Given the description of an element on the screen output the (x, y) to click on. 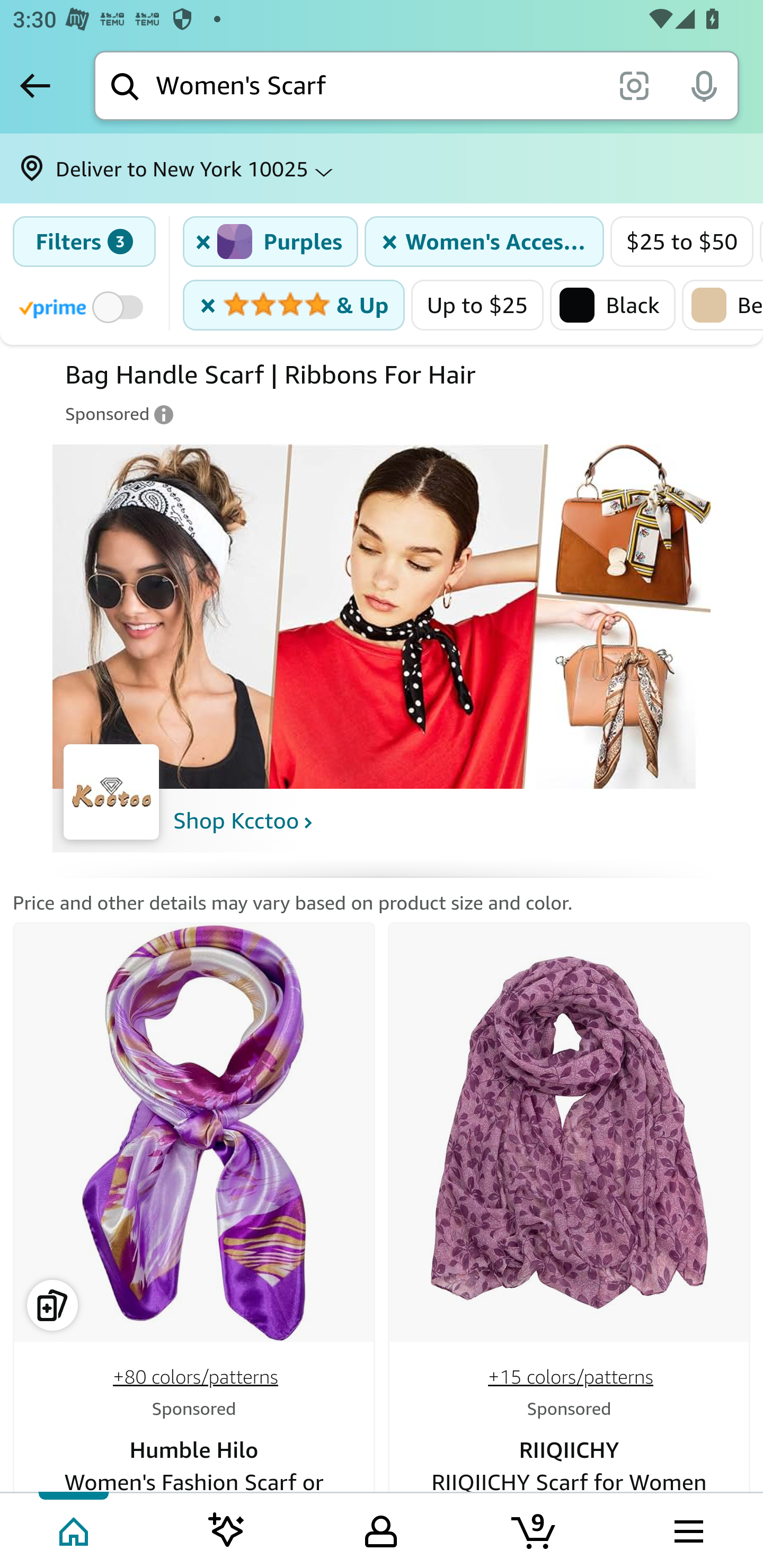
Back (35, 85)
scan it (633, 85)
Deliver to New York 10025 ⌵ (381, 168)
Filters 3 (83, 241)
× Purples Purples × Purples Purples (271, 241)
× Women's Accessories × Women's Accessories (484, 241)
$25 to $50 (682, 241)
Toggle to filter by Prime products Prime Eligible (83, 306)
× 4 Stars & Up × 4 Stars & Up (294, 304)
Up to $25 (477, 304)
Black Black Black Black (612, 304)
Beige Beige Beige Beige (721, 304)
Leave feedback on Sponsored ad (119, 414)
Shop Kcctoo Shop  Kcctoo  (242, 820)
+80 colors/patterns (195, 1377)
+15 colors/patterns (570, 1377)
Home Tab 1 of 5 (75, 1529)
Inspire feed Tab 2 of 5 (227, 1529)
Your Amazon.com Tab 3 of 5 (380, 1529)
Cart 9 items Tab 4 of 5 9 (534, 1529)
Browse menu Tab 5 of 5 (687, 1529)
